Given the description of an element on the screen output the (x, y) to click on. 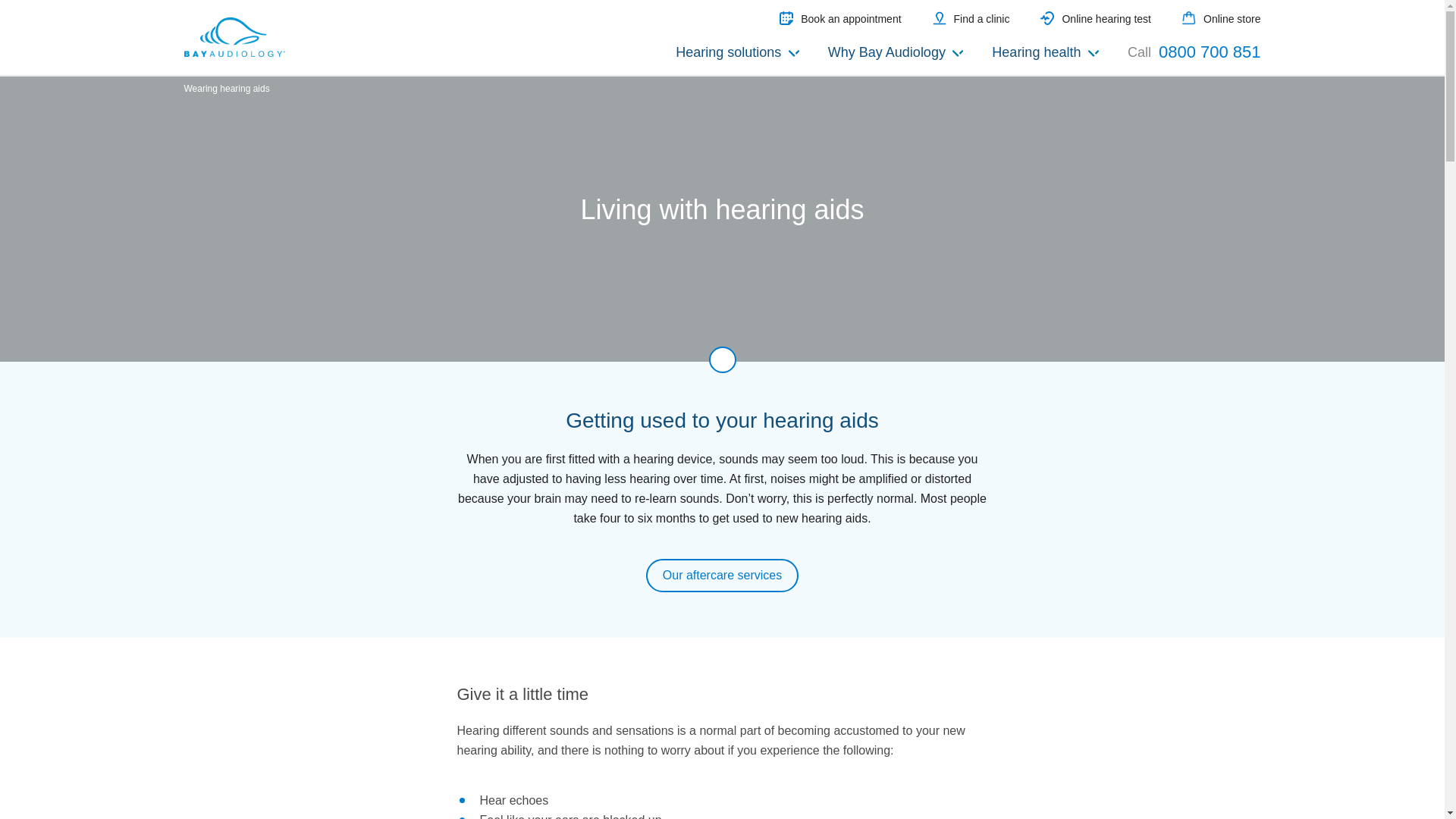
Online hearing test (1096, 18)
Online store (1221, 18)
Book an appointment (839, 18)
Find a clinic (971, 18)
